Given the description of an element on the screen output the (x, y) to click on. 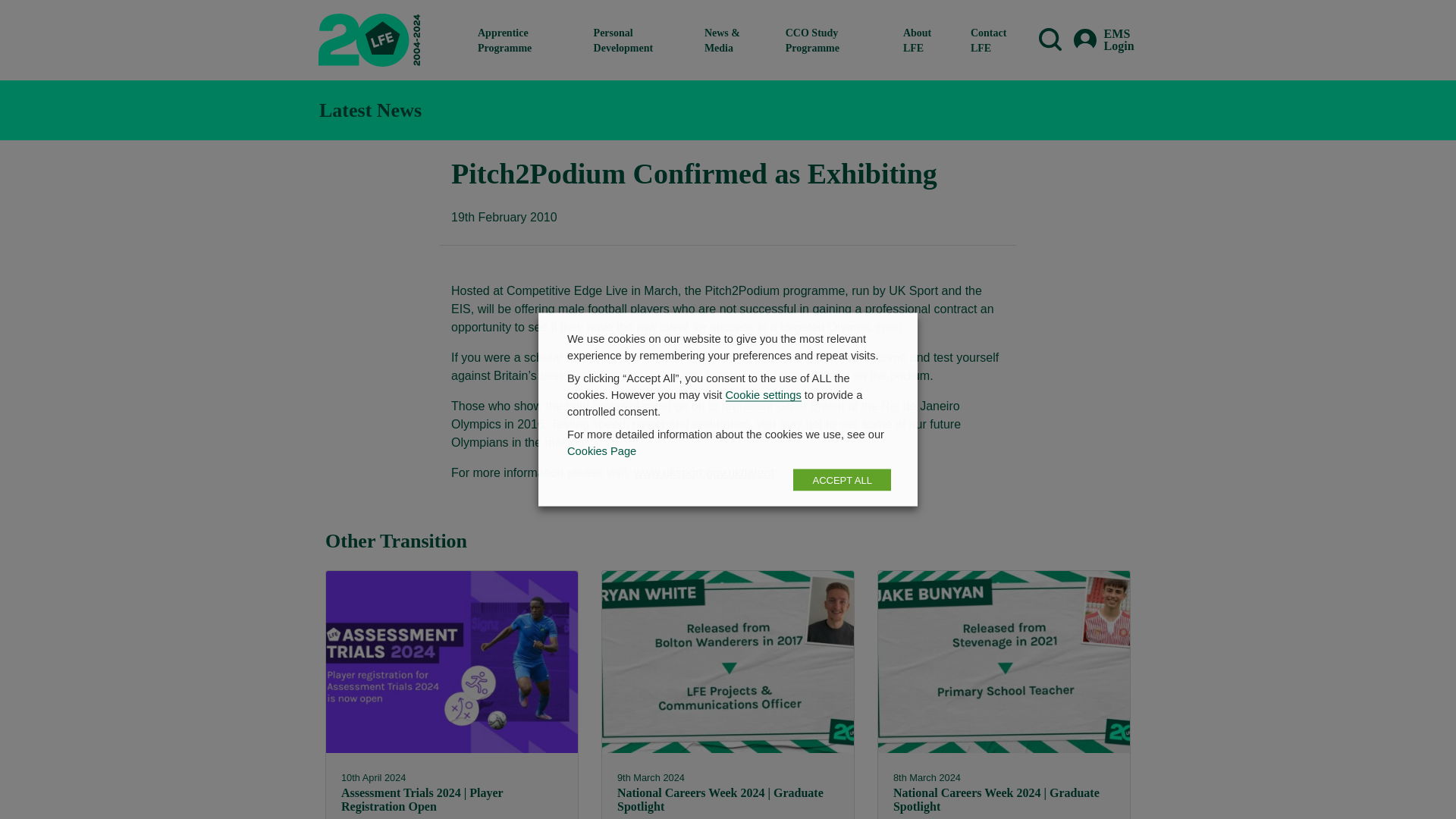
Apprentice Programme (523, 39)
Apprentice Programme (523, 39)
CCO Study Programme (831, 39)
Personal Development (636, 39)
